Given the description of an element on the screen output the (x, y) to click on. 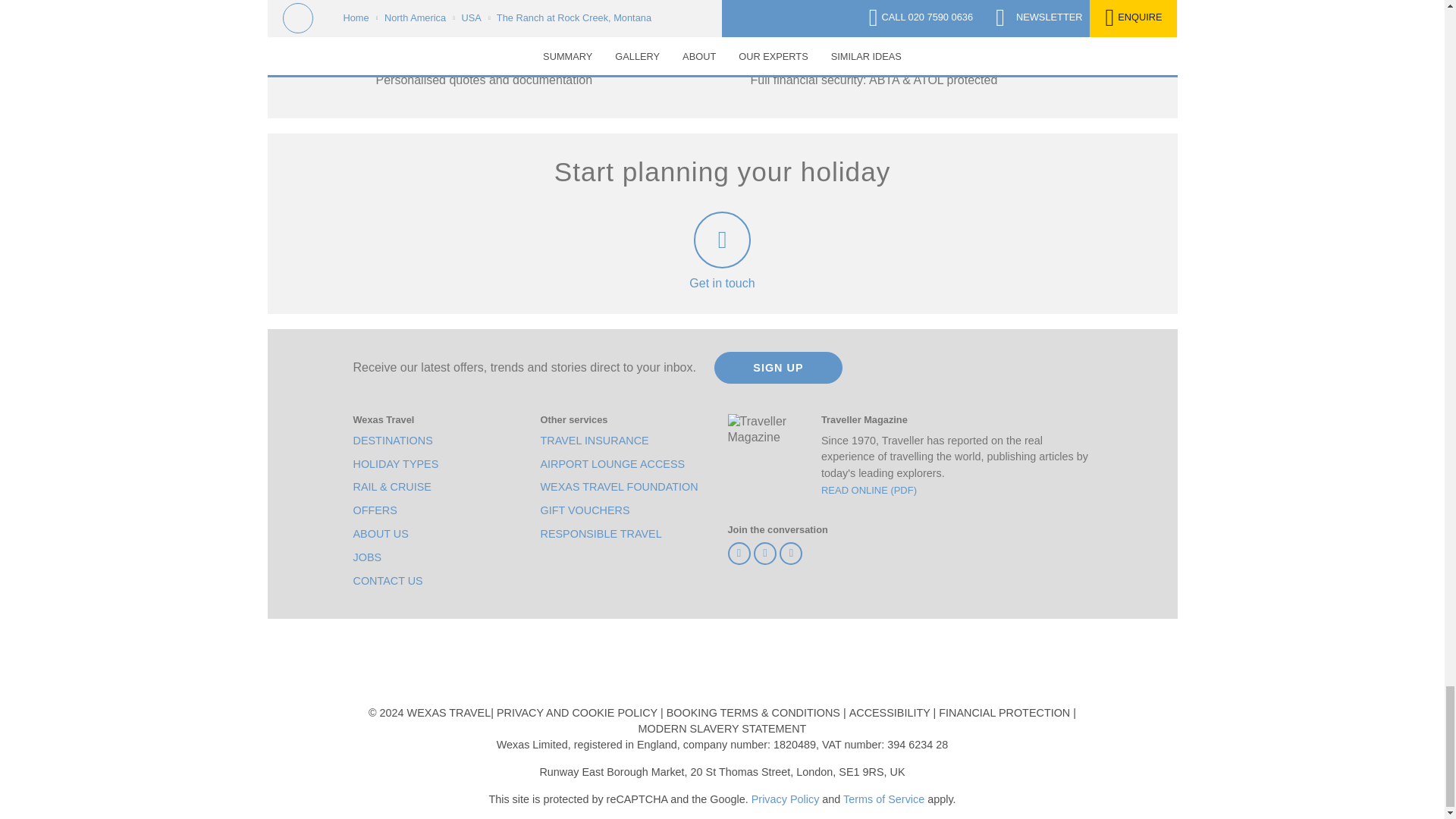
Airport Lounge Access (612, 464)
Holiday Types (396, 464)
Contact us (388, 580)
Jobs (367, 557)
Gift Vouchers (584, 510)
About us (381, 534)
Offers (375, 510)
Destinations (392, 440)
Wexas Travel Foundation (618, 487)
Travel Insurance (593, 440)
